Given the description of an element on the screen output the (x, y) to click on. 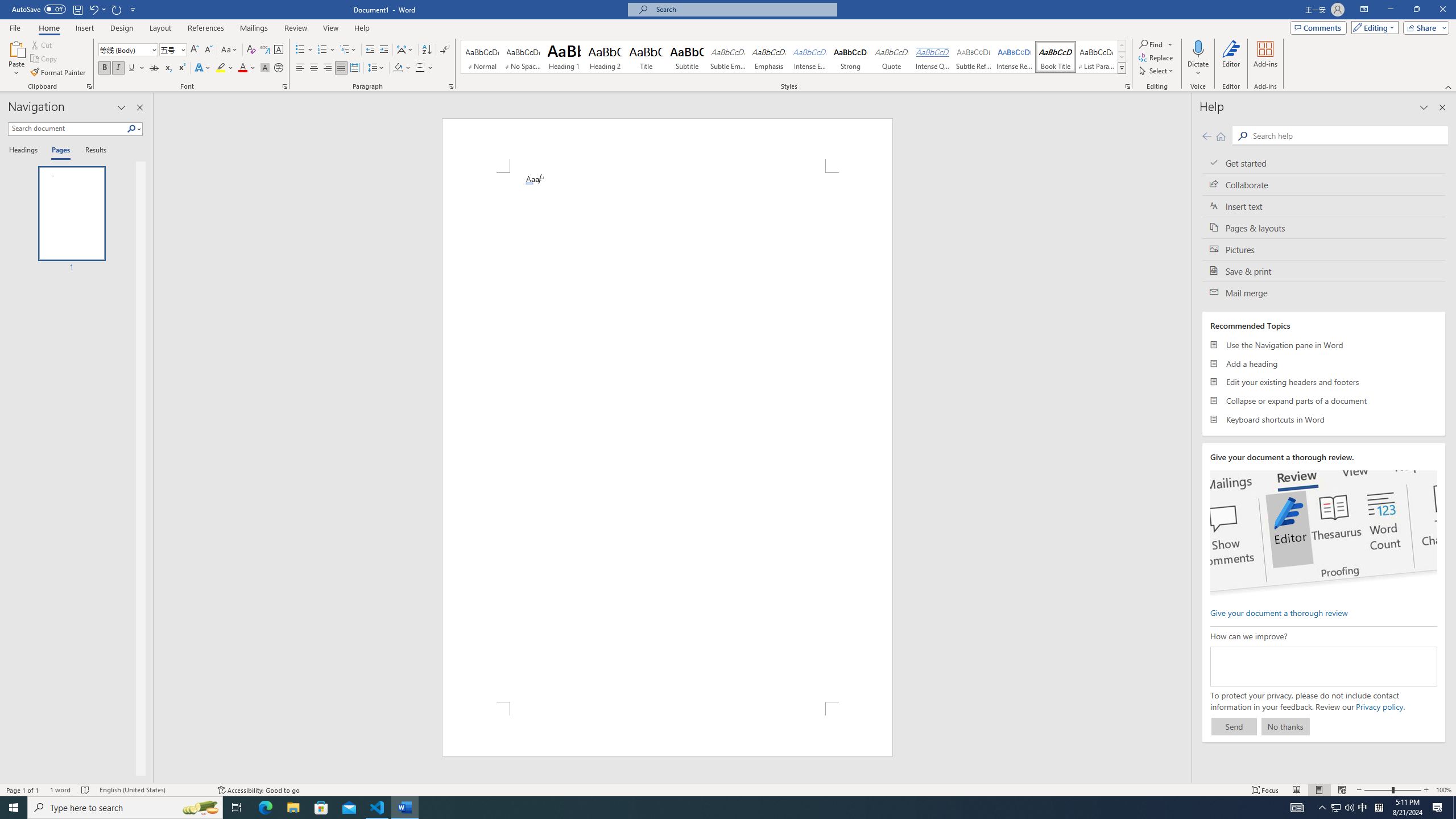
Undo Apply Quick Style (92, 9)
Spelling and Grammar Check No Errors (85, 790)
Keyboard shortcuts in Word (1323, 419)
